Given the description of an element on the screen output the (x, y) to click on. 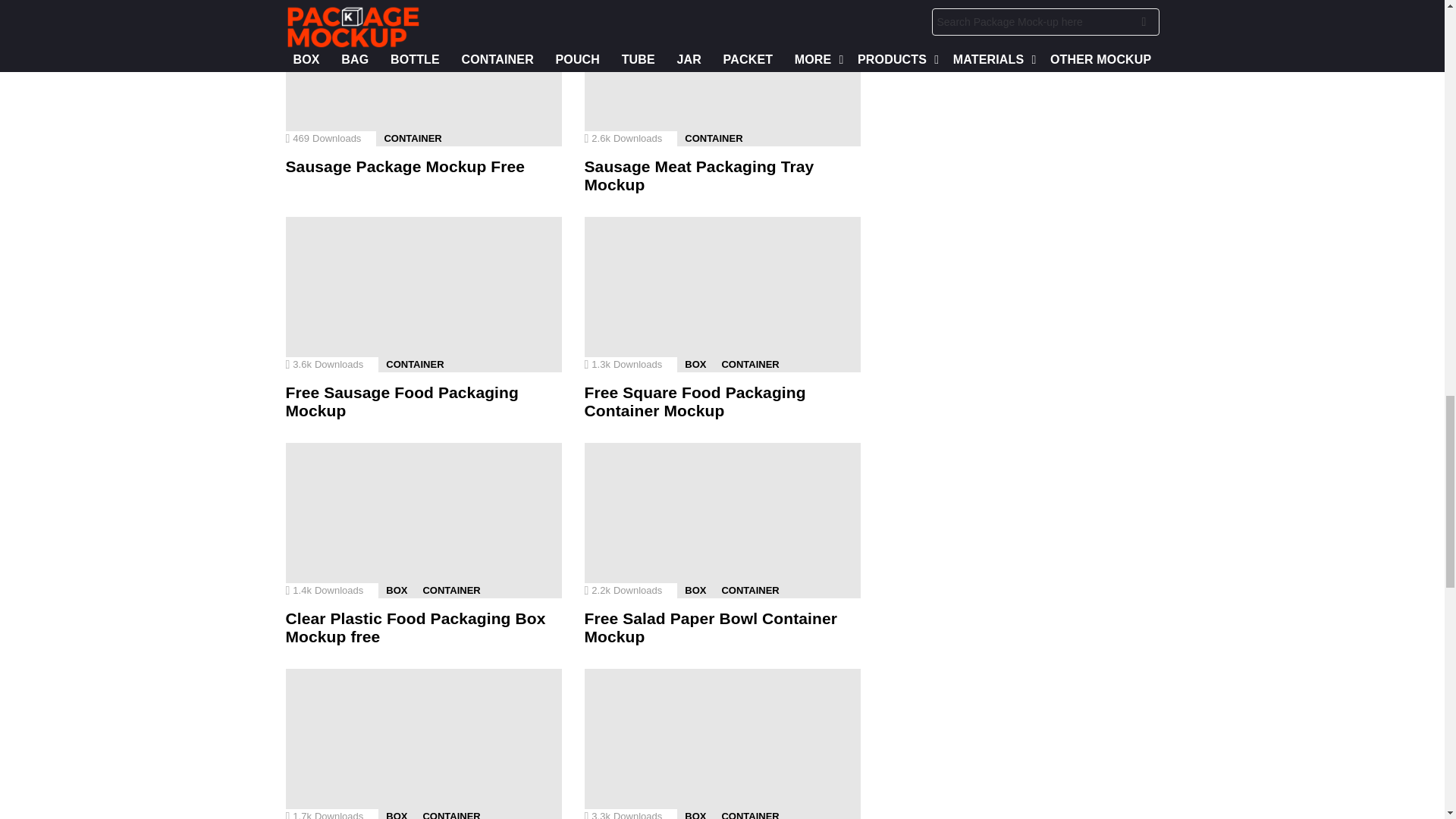
Free Square Food Packaging Container Mockup (721, 294)
Clear Plastic Food Packaging Box Mockup free (422, 520)
Free Salad Paper Bowl Container Mockup (721, 520)
Free Sausage Food Packaging Mockup (422, 294)
Free Round Food Tray Container Mockups 3 set (422, 744)
Sausage Meat Packaging Tray Mockup (721, 73)
Sausage Package Mockup Free (422, 73)
Free Packaging Meat Tray Mockup (721, 744)
